Given the description of an element on the screen output the (x, y) to click on. 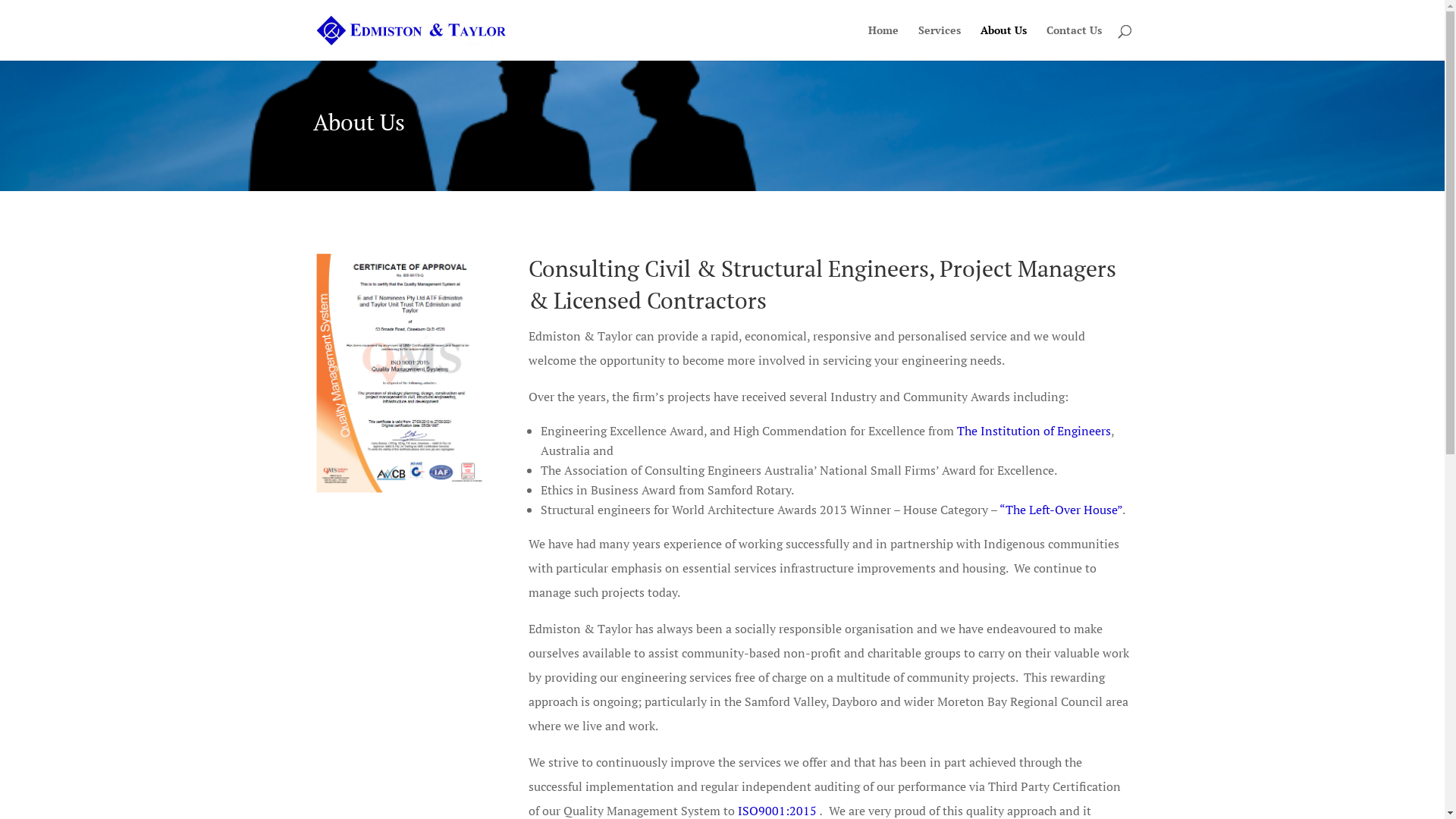
Home Element type: text (882, 42)
Contact Us Element type: text (1073, 42)
About Us Element type: text (1002, 42)
Services Element type: text (938, 42)
The Institution of Engineers Element type: text (1033, 430)
